Given the description of an element on the screen output the (x, y) to click on. 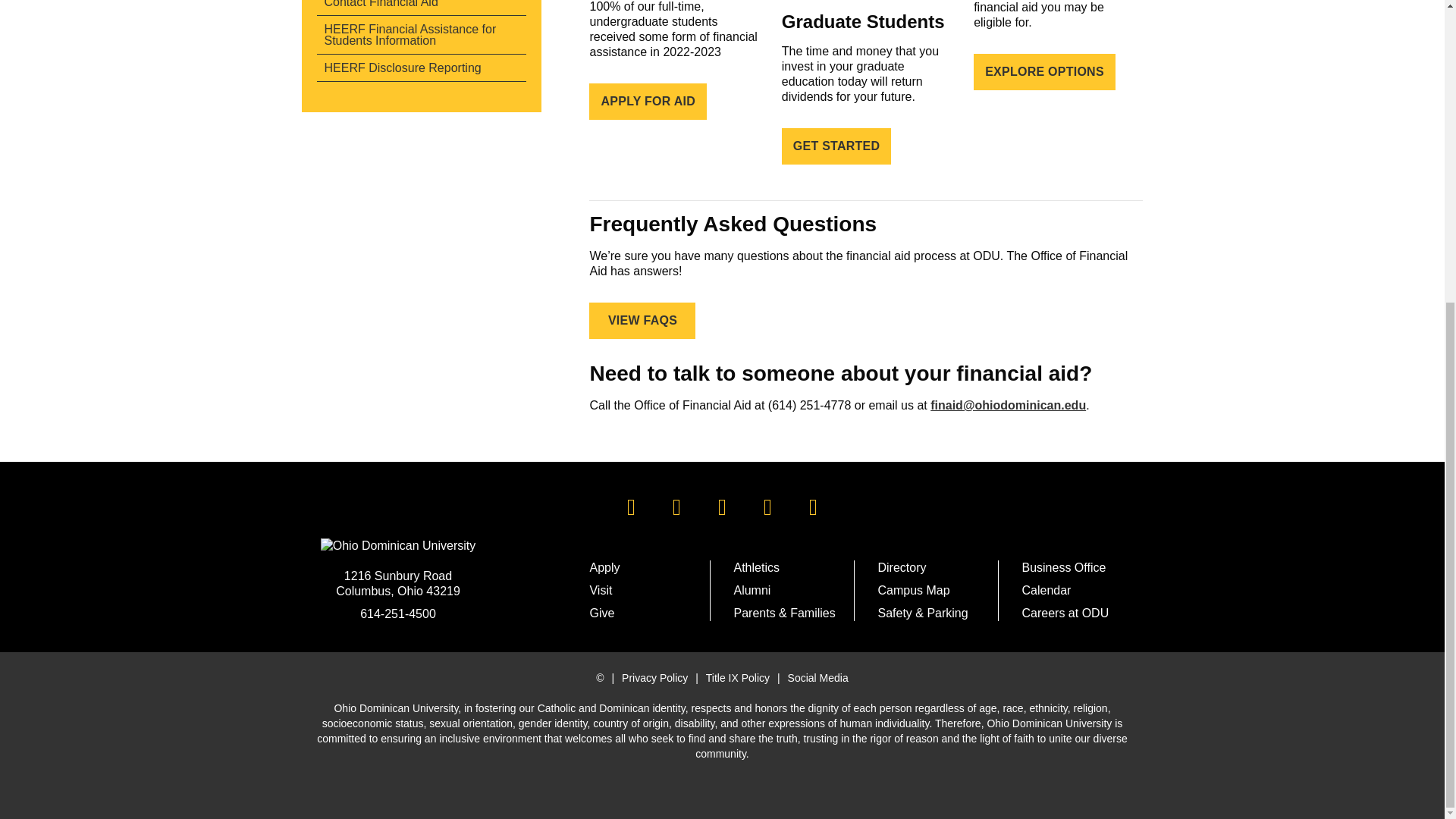
ODU Homepage (398, 545)
